Given the description of an element on the screen output the (x, y) to click on. 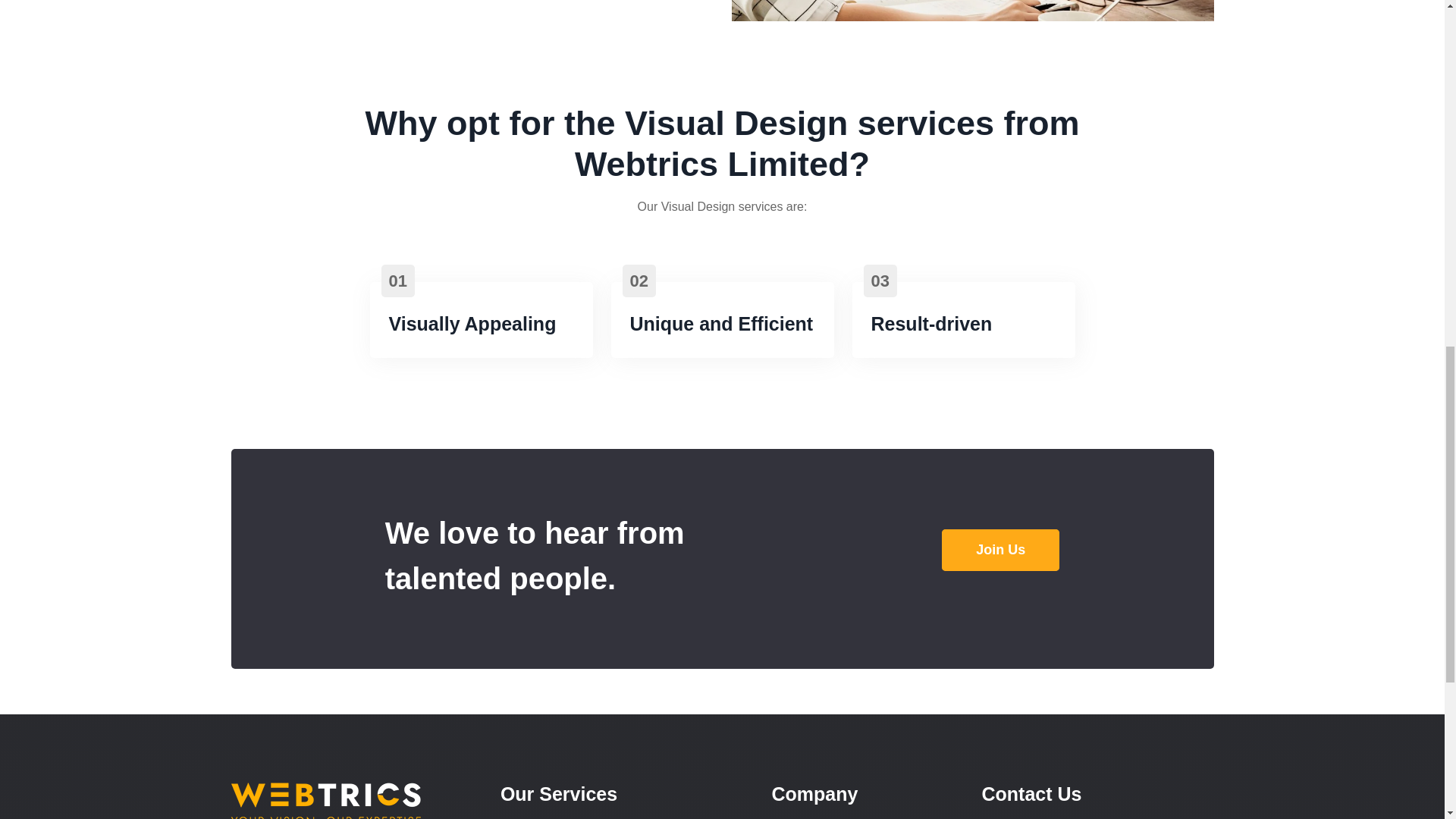
Result-driven (930, 323)
Visually Appealing (472, 323)
Join Us (1000, 549)
Unique and Efficient (720, 323)
